Given the description of an element on the screen output the (x, y) to click on. 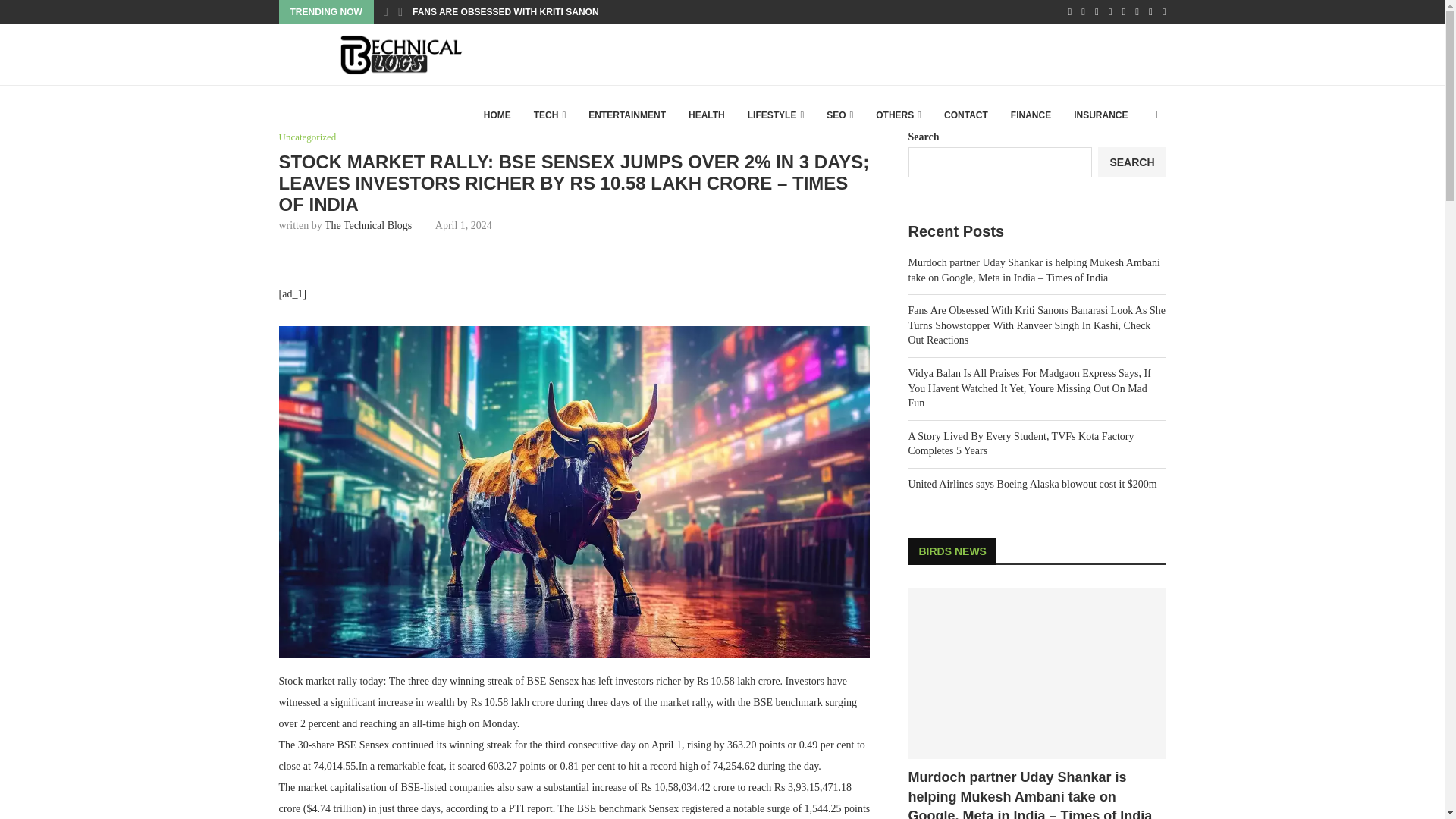
FANS ARE OBSESSED WITH KRITI SANONS BANARASI LOOK... (551, 12)
ENTERTAINMENT (626, 115)
HEALTH (706, 115)
LIFESTYLE (775, 115)
